Given the description of an element on the screen output the (x, y) to click on. 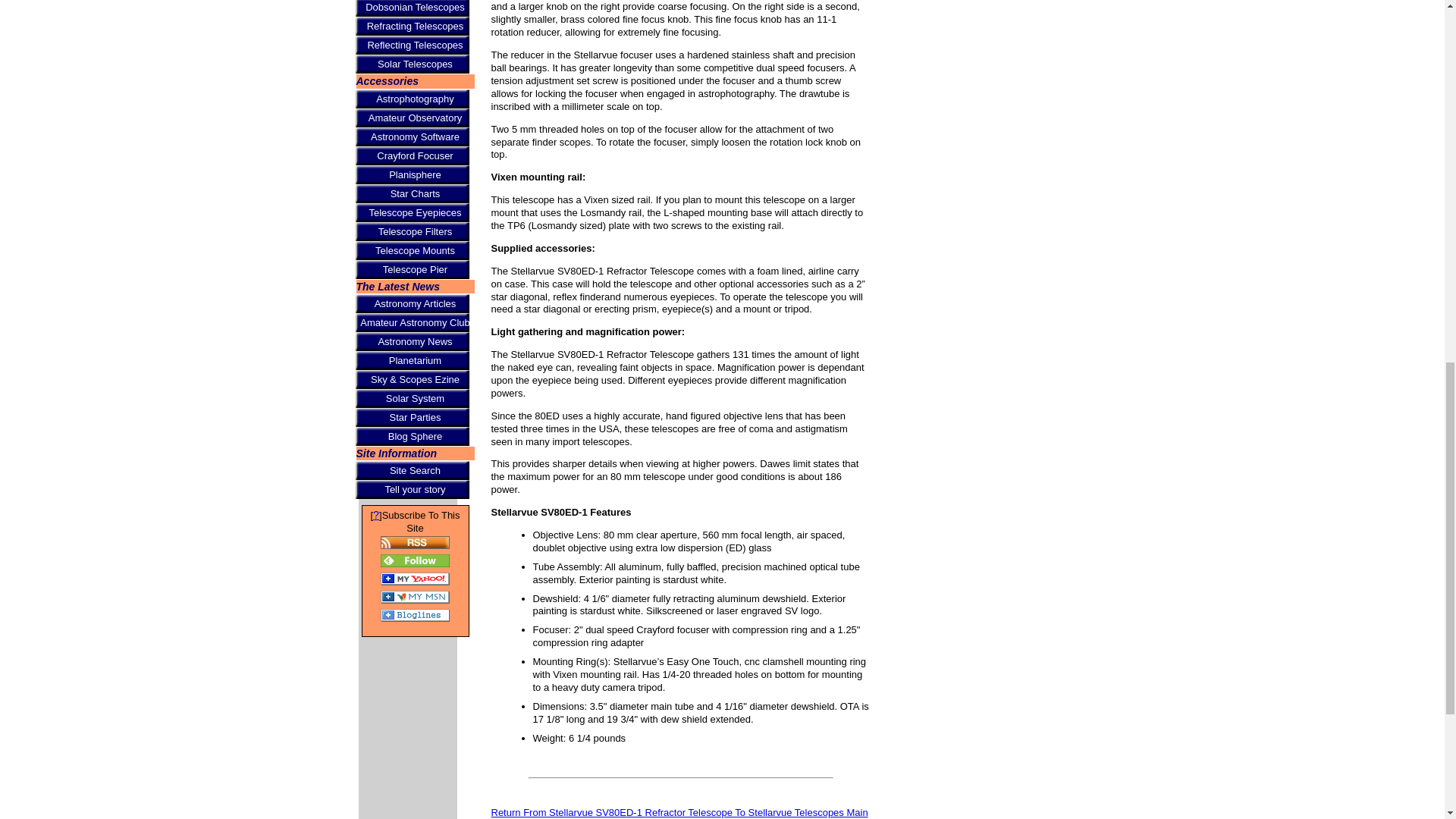
Astronomy Software (414, 136)
Solar Telescopes (414, 63)
Refracting Telescopes (414, 26)
Dobsonian Telescopes (414, 8)
Reflecting Telescopes (414, 45)
Amateur Observatory (414, 117)
Crayford Focuser (414, 155)
Astrophotography (414, 98)
Planisphere (414, 174)
